Given the description of an element on the screen output the (x, y) to click on. 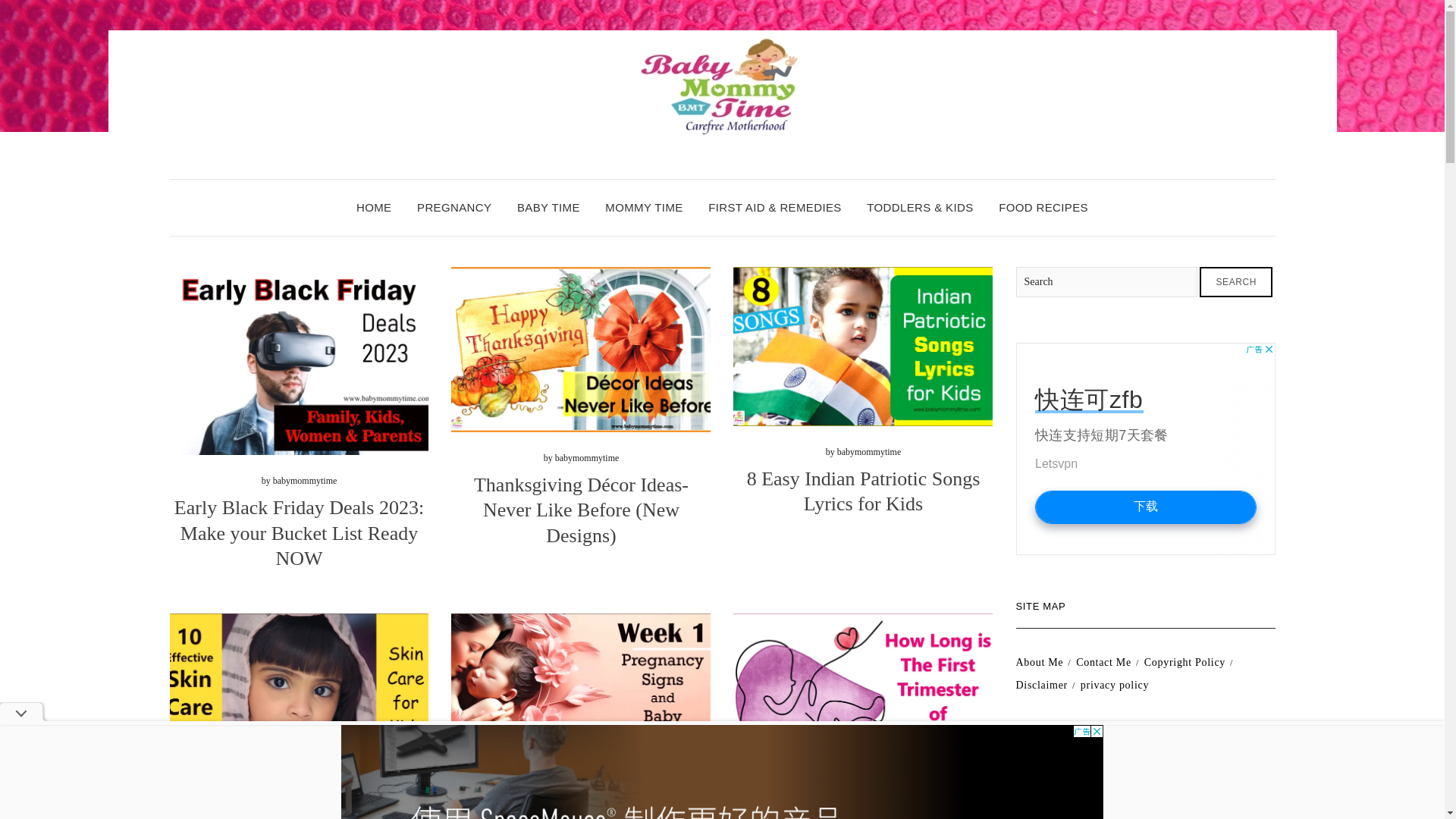
babymommytime (305, 480)
babymommytime (587, 457)
babymommytime (305, 798)
PREGNANCY (454, 207)
FOOD RECIPES (1042, 207)
BABY TIME (547, 207)
MOMMY TIME (643, 207)
babymommytime (869, 810)
Advertisement (1145, 780)
Advertisement (1145, 449)
